Given the description of an element on the screen output the (x, y) to click on. 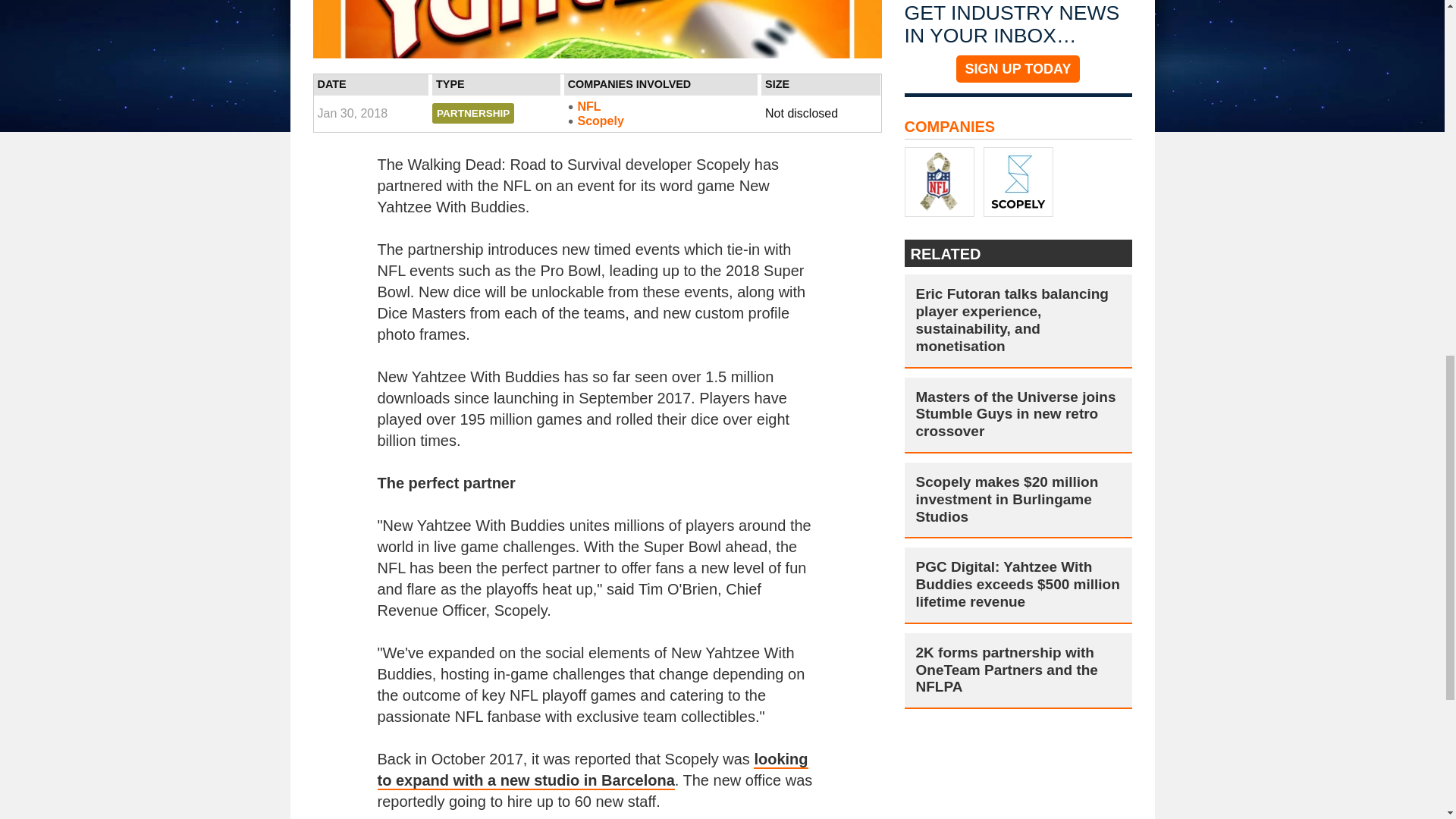
NFL (660, 106)
Scopely (660, 120)
looking to expand with a new studio in Barcelona (592, 770)
